Given the description of an element on the screen output the (x, y) to click on. 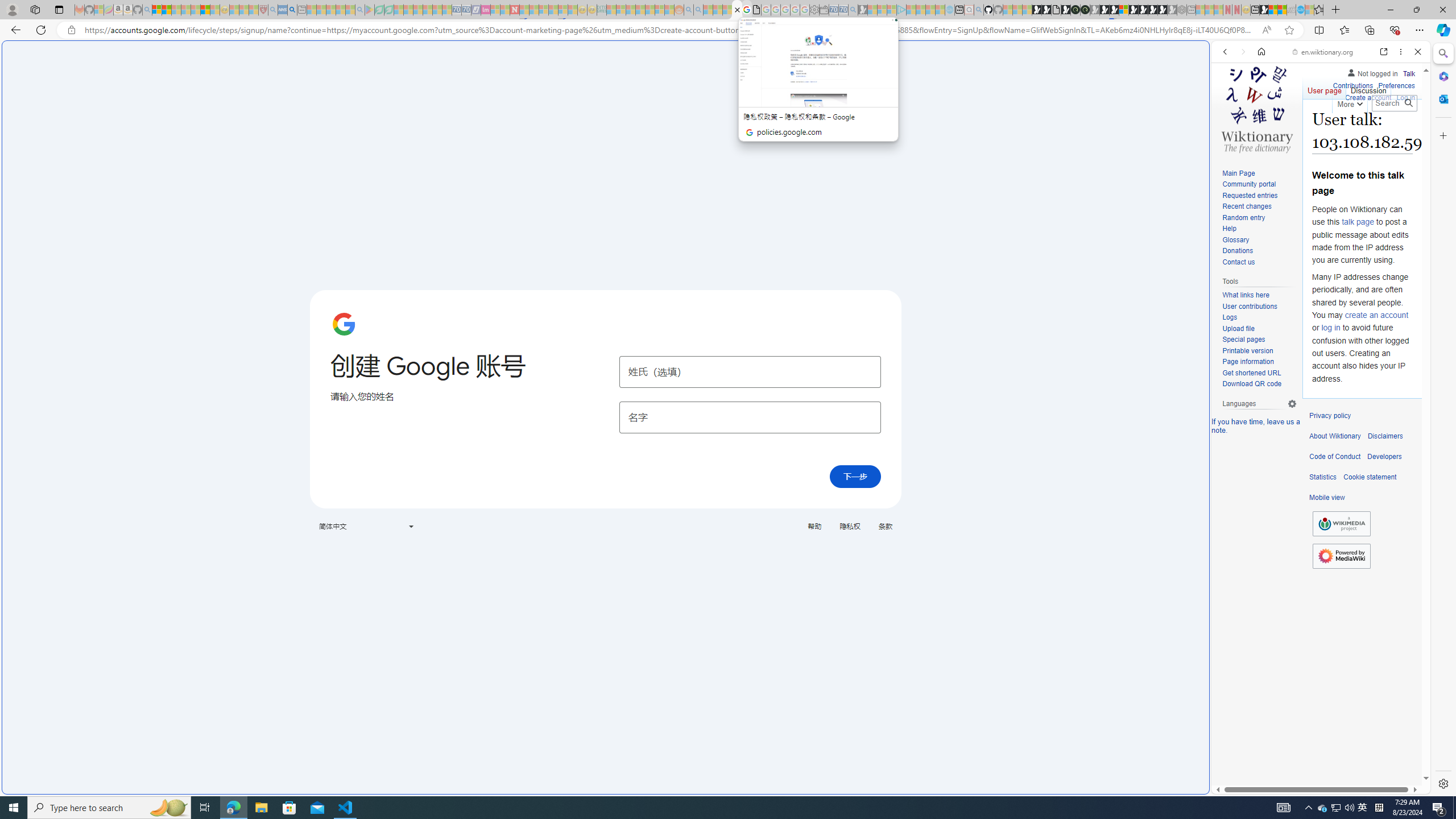
Contributions (1352, 84)
Page information (1259, 361)
User page (1324, 87)
log in (1330, 327)
Upload file (1238, 328)
Cookie statement (1369, 477)
